Given the description of an element on the screen output the (x, y) to click on. 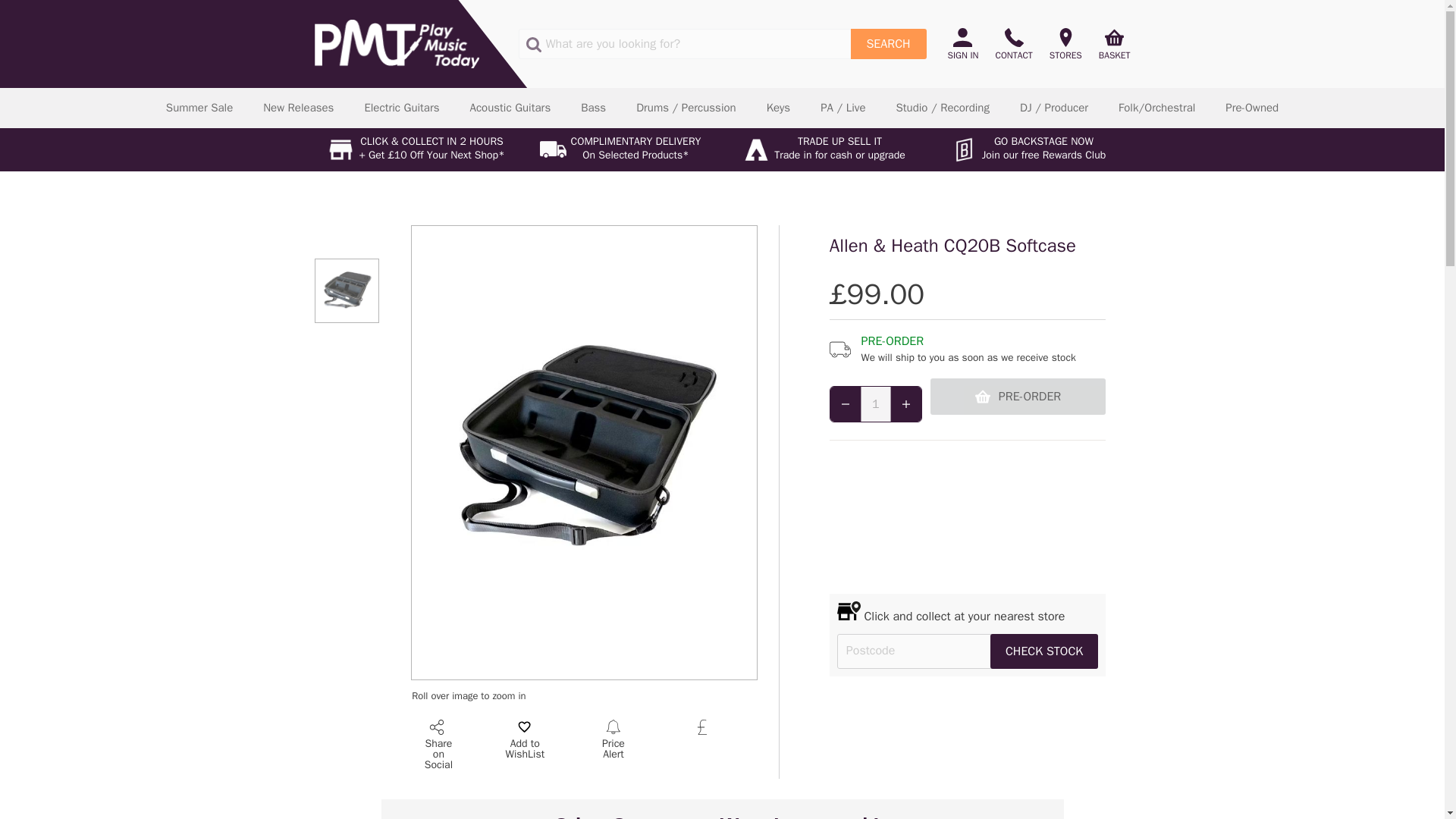
SIGN IN (967, 43)
 Logo (396, 43)
Search (888, 43)
SEARCH (888, 43)
Summer Sale (199, 107)
STORES (1065, 43)
Sign in to my account (967, 43)
Availability (967, 348)
CONTACT (1014, 43)
PRE-ORDER (1017, 396)
